Given the description of an element on the screen output the (x, y) to click on. 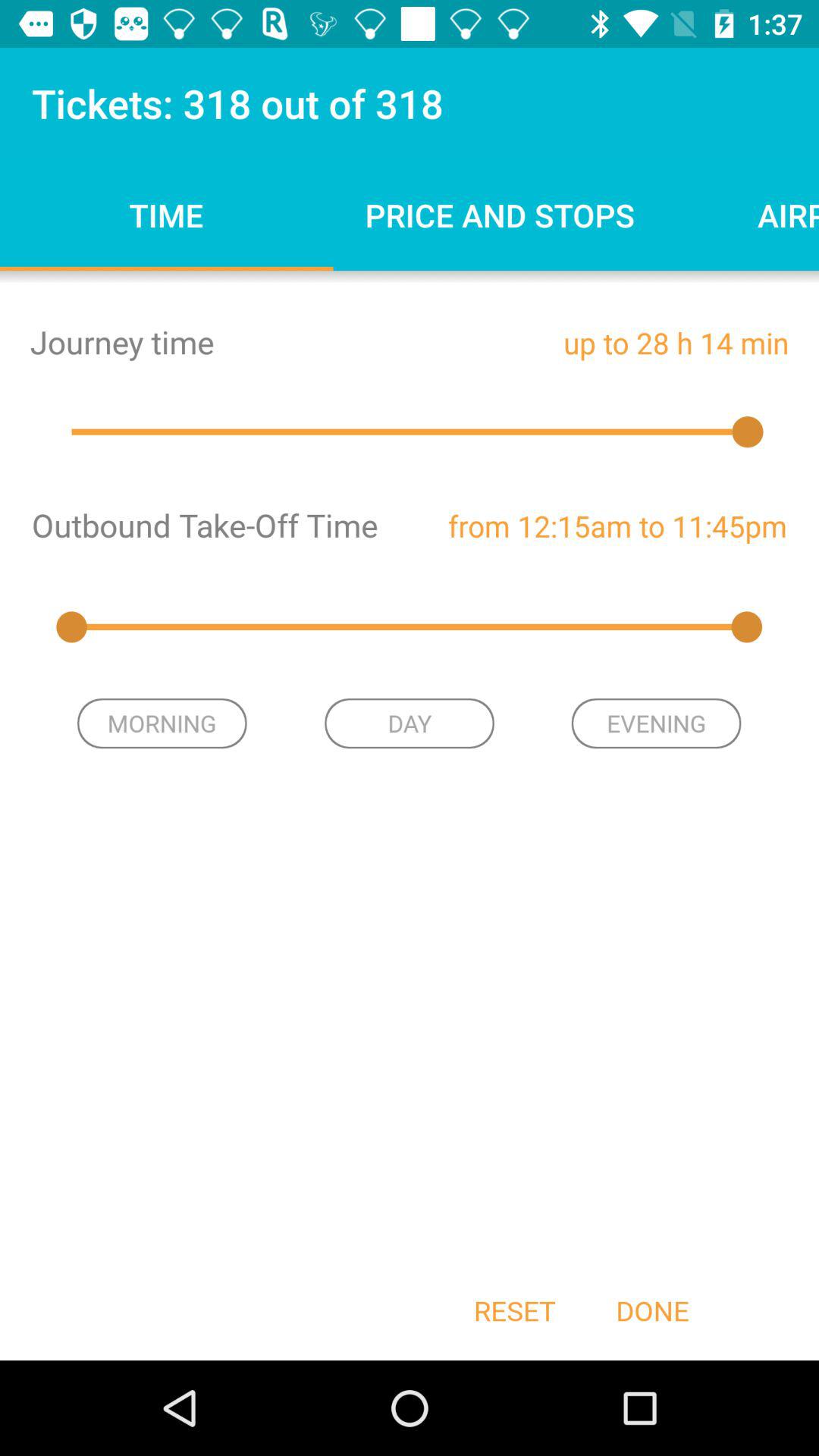
select the morning icon (161, 723)
